Given the description of an element on the screen output the (x, y) to click on. 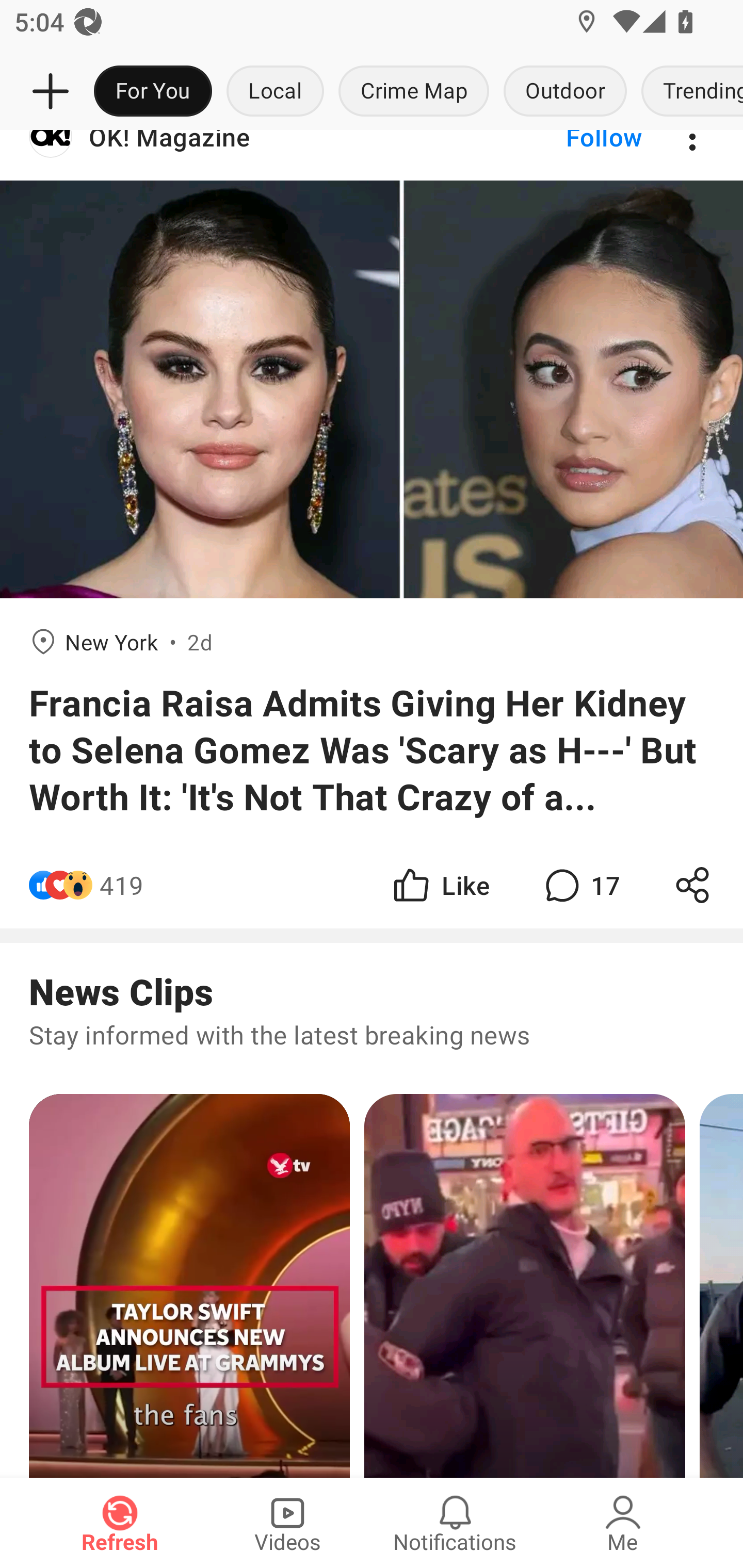
For You (152, 91)
Local (275, 91)
Crime Map (413, 91)
Outdoor (564, 91)
Trending (688, 91)
419 (121, 885)
Like (439, 885)
17 (579, 885)
Videos (287, 1522)
Notifications (455, 1522)
Me (622, 1522)
